Given the description of an element on the screen output the (x, y) to click on. 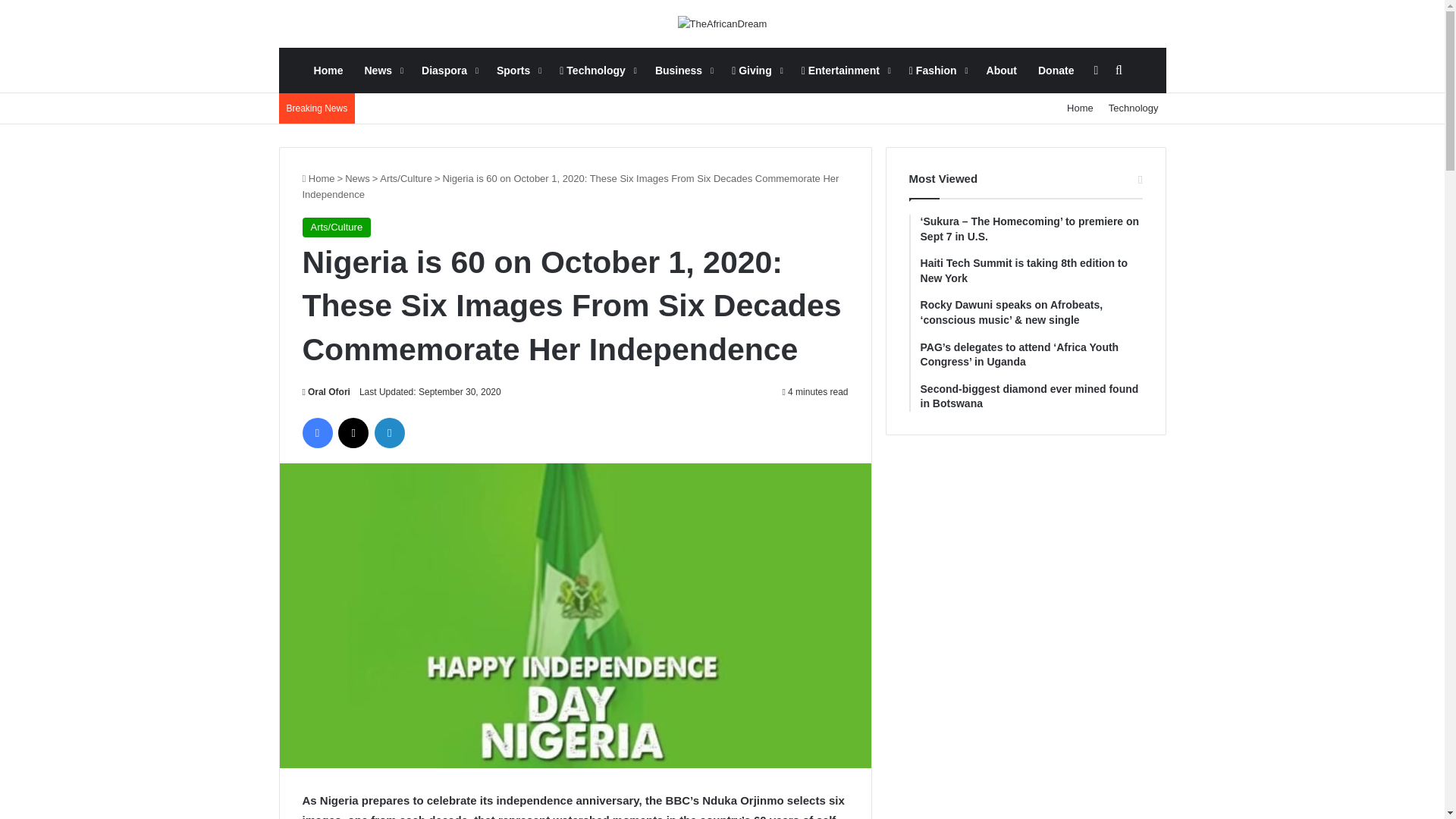
About (1001, 70)
Oral Ofori (325, 391)
Donate (1055, 70)
Home (317, 178)
Diaspora (448, 70)
Technology (1133, 108)
Business (682, 70)
Giving (755, 70)
LinkedIn (389, 432)
X (352, 432)
